Given the description of an element on the screen output the (x, y) to click on. 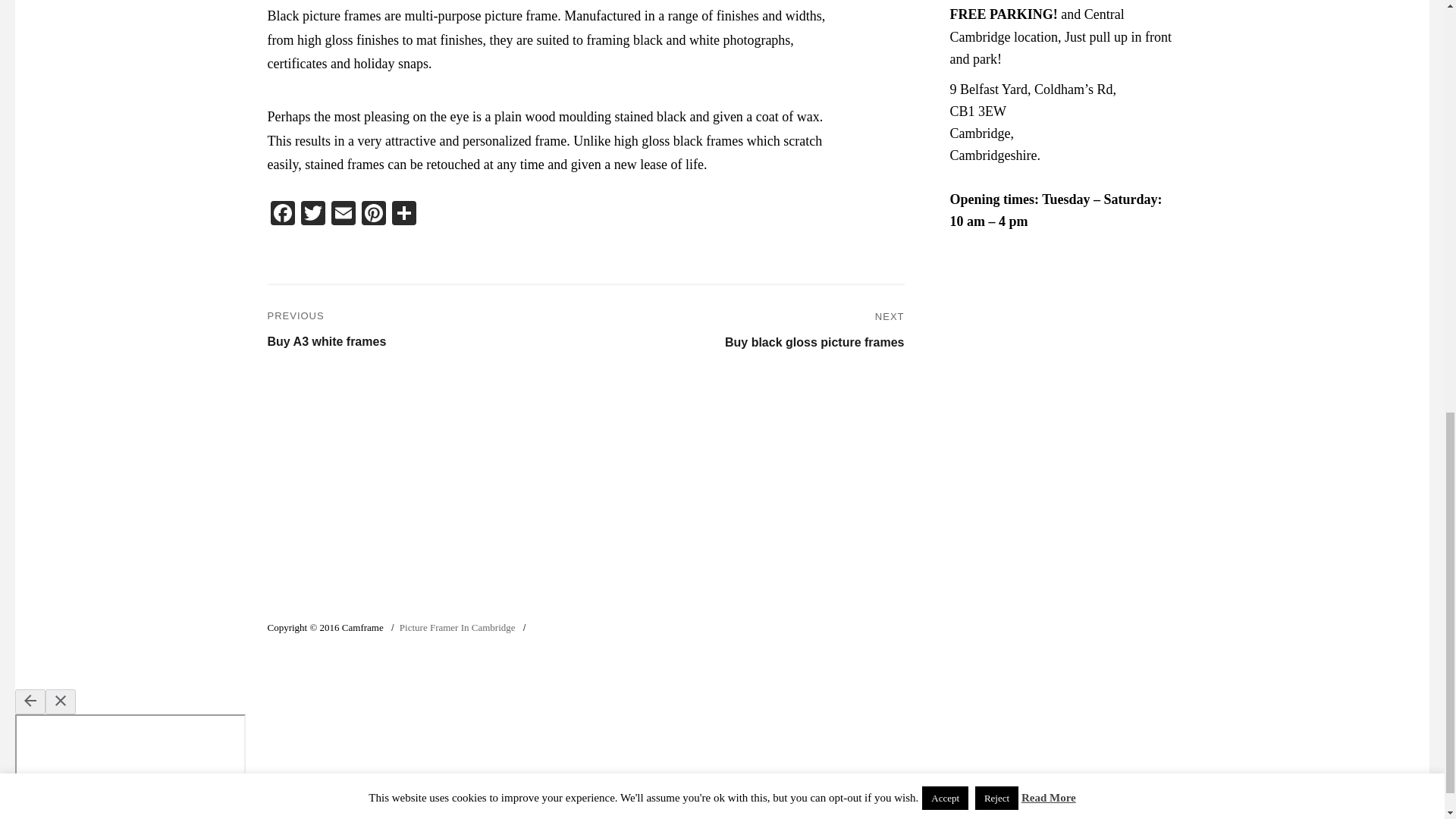
Email (325, 330)
Pinterest (342, 214)
Twitter (373, 214)
Facebook (312, 214)
Email (814, 331)
Pinterest (281, 214)
Twitter (342, 214)
Share (373, 214)
Facebook (312, 214)
